Given the description of an element on the screen output the (x, y) to click on. 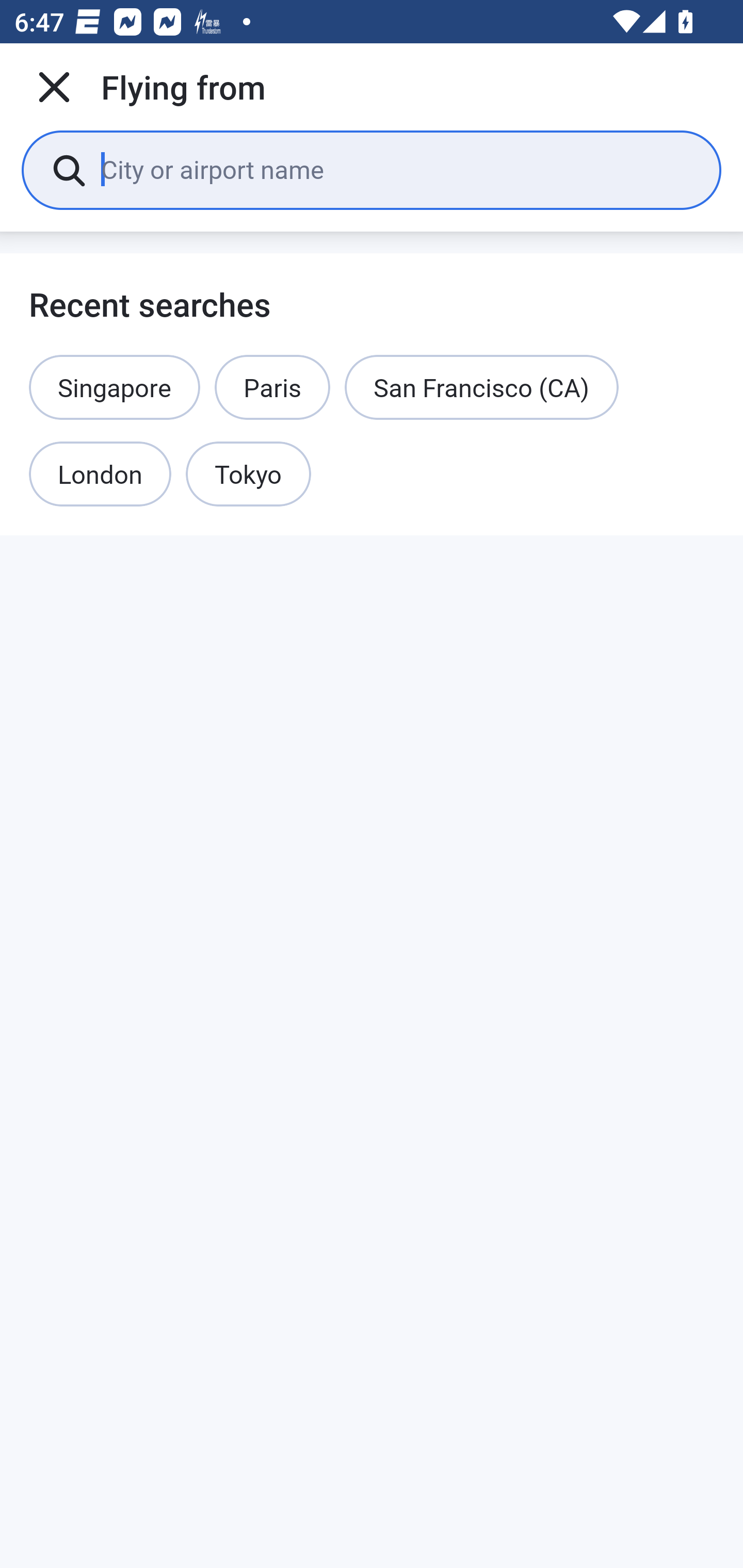
City or airport name (396, 169)
Singapore (113, 387)
Paris (271, 387)
San Francisco (CA) (481, 387)
London (99, 474)
Tokyo (248, 474)
